Given the description of an element on the screen output the (x, y) to click on. 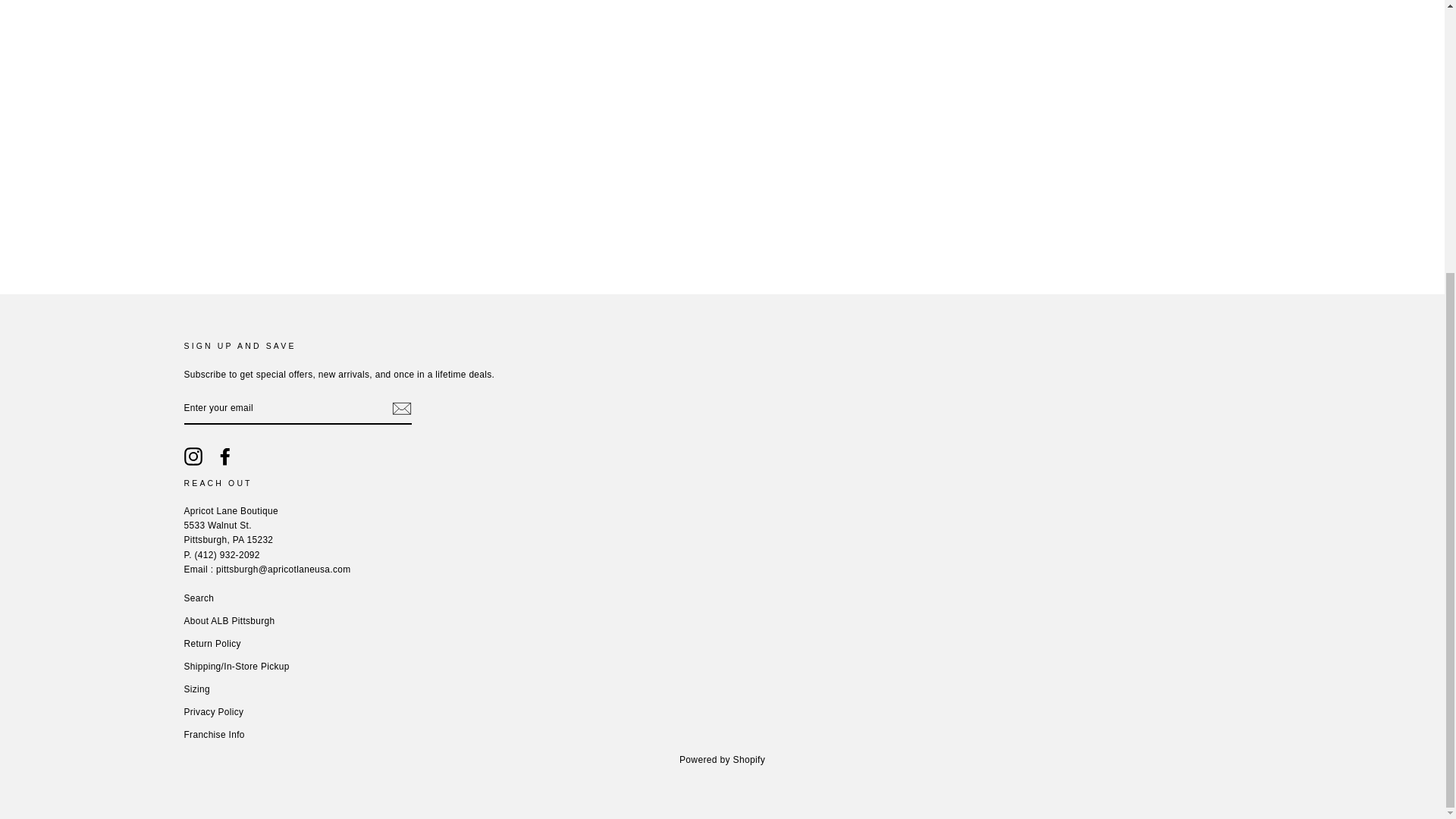
Apricot Lane Boutique - Pittsburgh on Facebook (224, 456)
Apricot Lane Boutique - Pittsburgh on Instagram (192, 456)
